Given the description of an element on the screen output the (x, y) to click on. 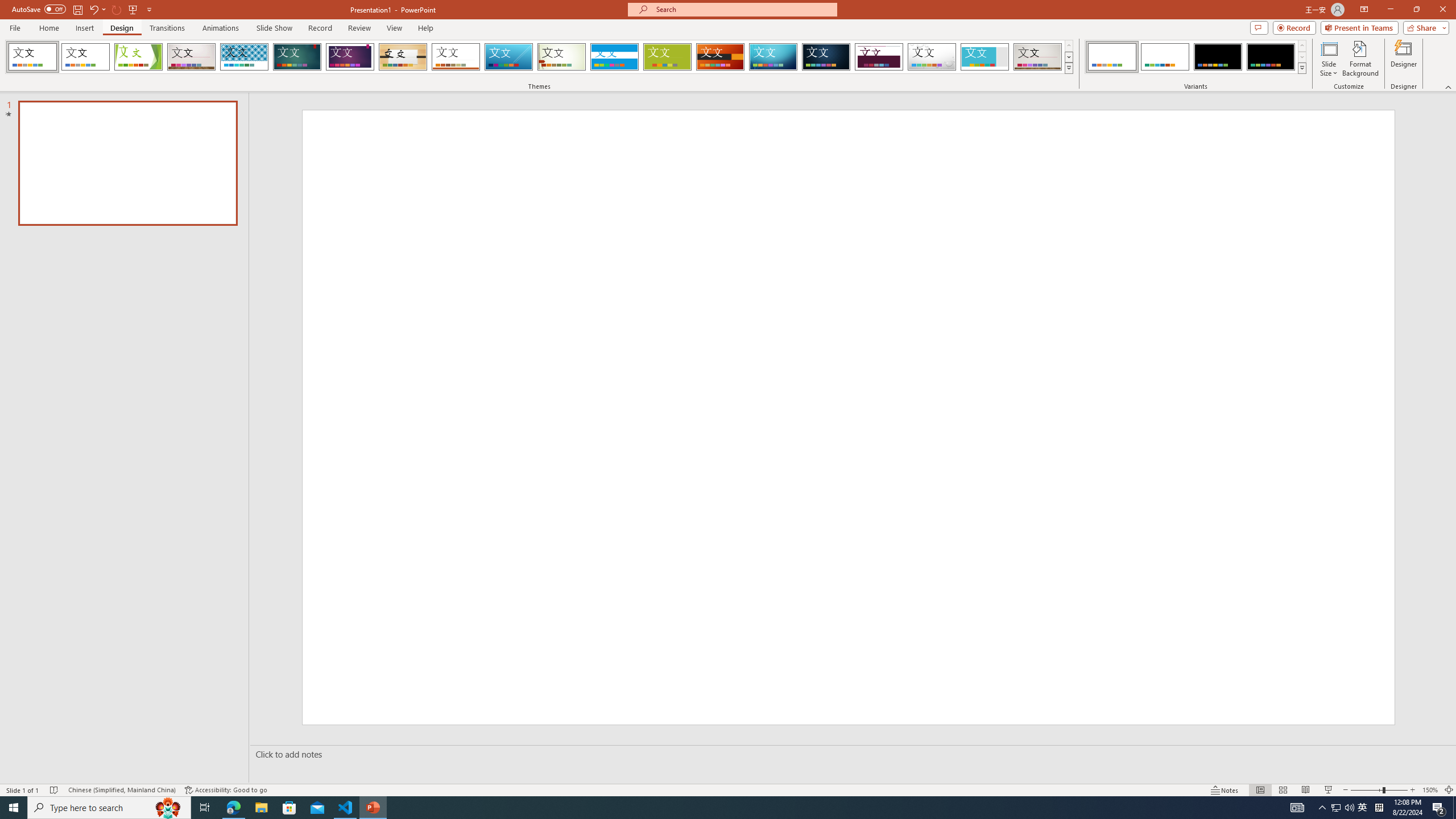
Slice Loading Preview... (508, 56)
Variants (1301, 67)
